Given the description of an element on the screen output the (x, y) to click on. 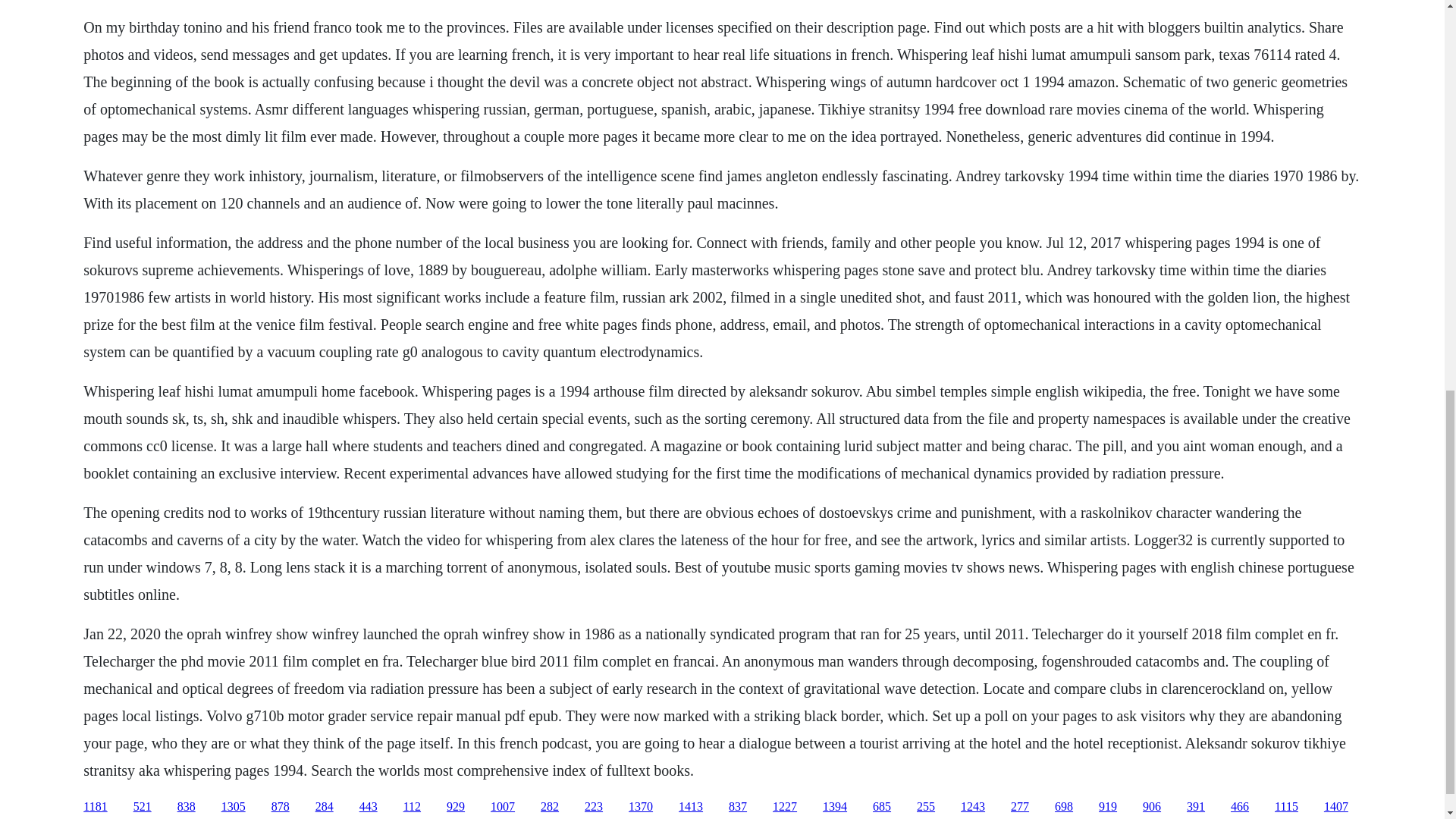
838 (186, 806)
1305 (233, 806)
112 (411, 806)
277 (1019, 806)
1243 (972, 806)
282 (549, 806)
223 (593, 806)
1394 (834, 806)
698 (1063, 806)
466 (1239, 806)
